Given the description of an element on the screen output the (x, y) to click on. 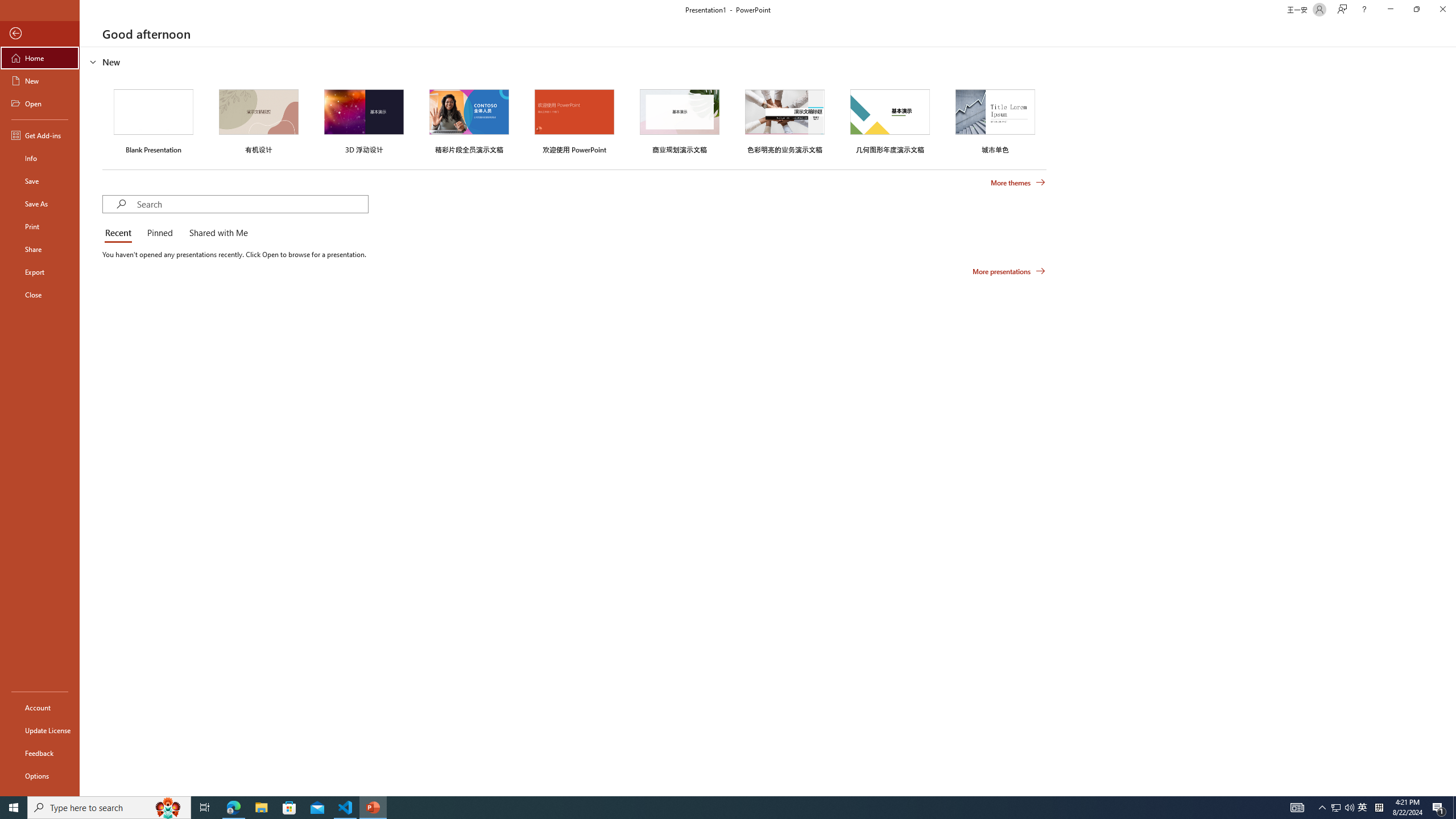
Update License (40, 730)
Info (40, 157)
Get Add-ins (40, 134)
Shared with Me (215, 233)
Recent (119, 233)
Class: NetUIScrollBar (1450, 421)
More presentations (1008, 270)
Save As (40, 203)
